Given the description of an element on the screen output the (x, y) to click on. 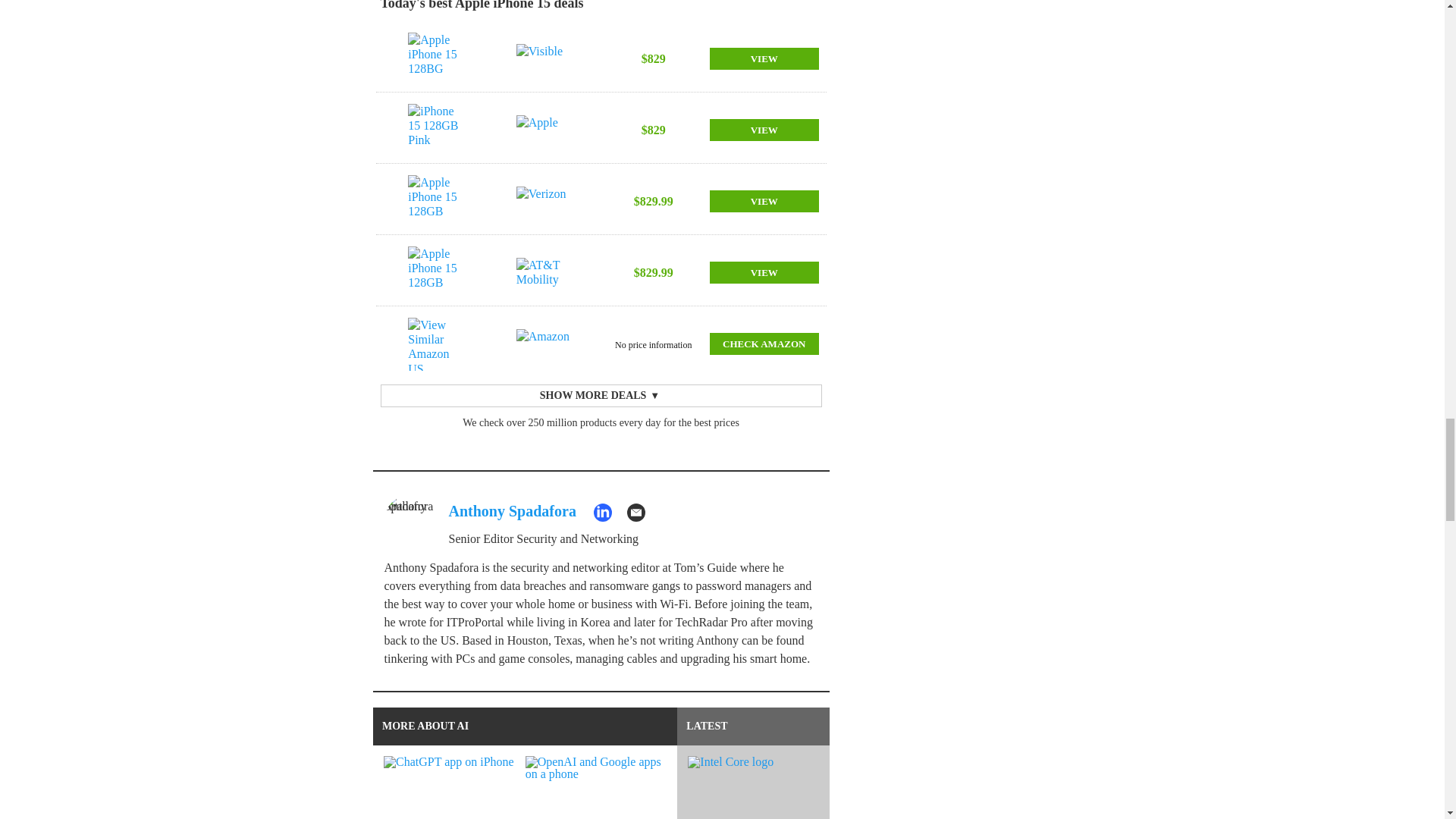
Apple iPhone 15 128GB (437, 272)
View Similar Amazon US (437, 344)
Amazon (546, 344)
Apple (546, 130)
Verizon (546, 201)
iPhone 15 128GB Pink (437, 130)
Apple iPhone 15 128GB (437, 201)
Visible (546, 59)
Apple iPhone 15 128BG (437, 58)
